Given the description of an element on the screen output the (x, y) to click on. 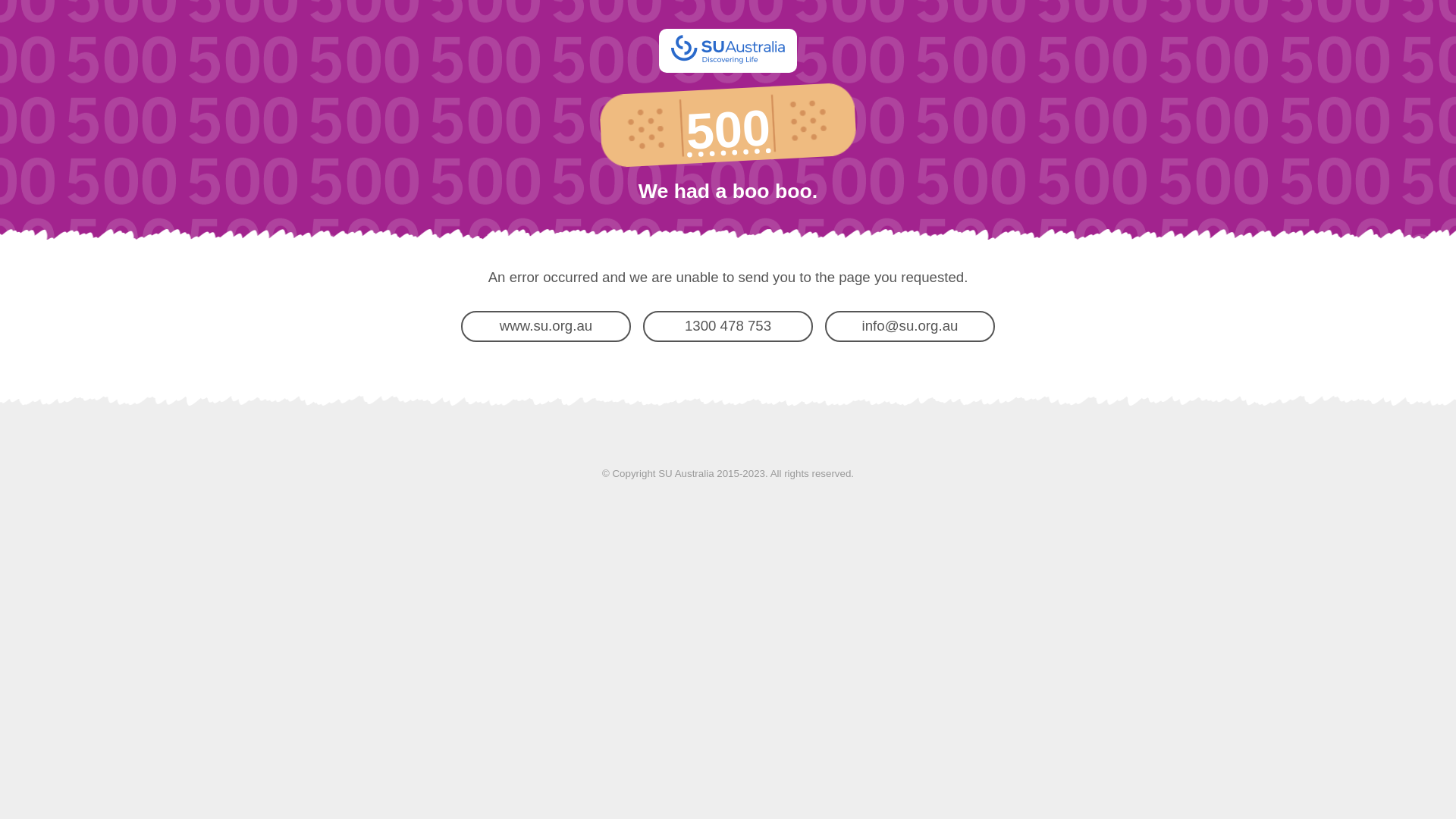
www.su.org.au Element type: text (545, 326)
info@su.org.au Element type: text (909, 326)
1300 478 753 Element type: text (727, 326)
